Given the description of an element on the screen output the (x, y) to click on. 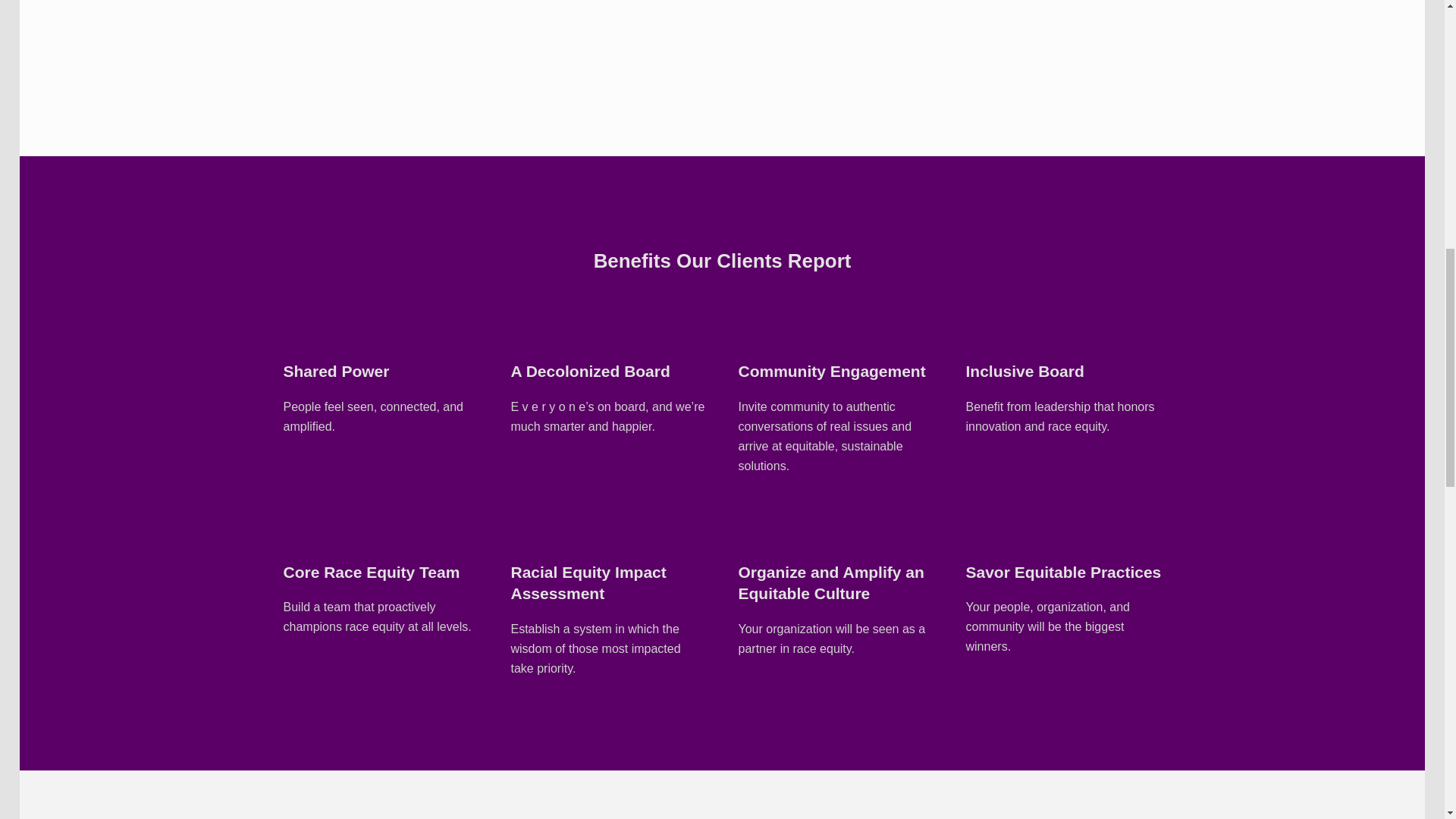
equity-inclusion-team (985, 325)
fully-diversified (529, 325)
enjoy-inclusiveness (529, 526)
community-engagement (757, 526)
FullSizeRender (836, 32)
racial-impact-board (757, 325)
employee-empowerment (985, 526)
promote-amplify (302, 325)
employee-empowerment (302, 526)
